Given the description of an element on the screen output the (x, y) to click on. 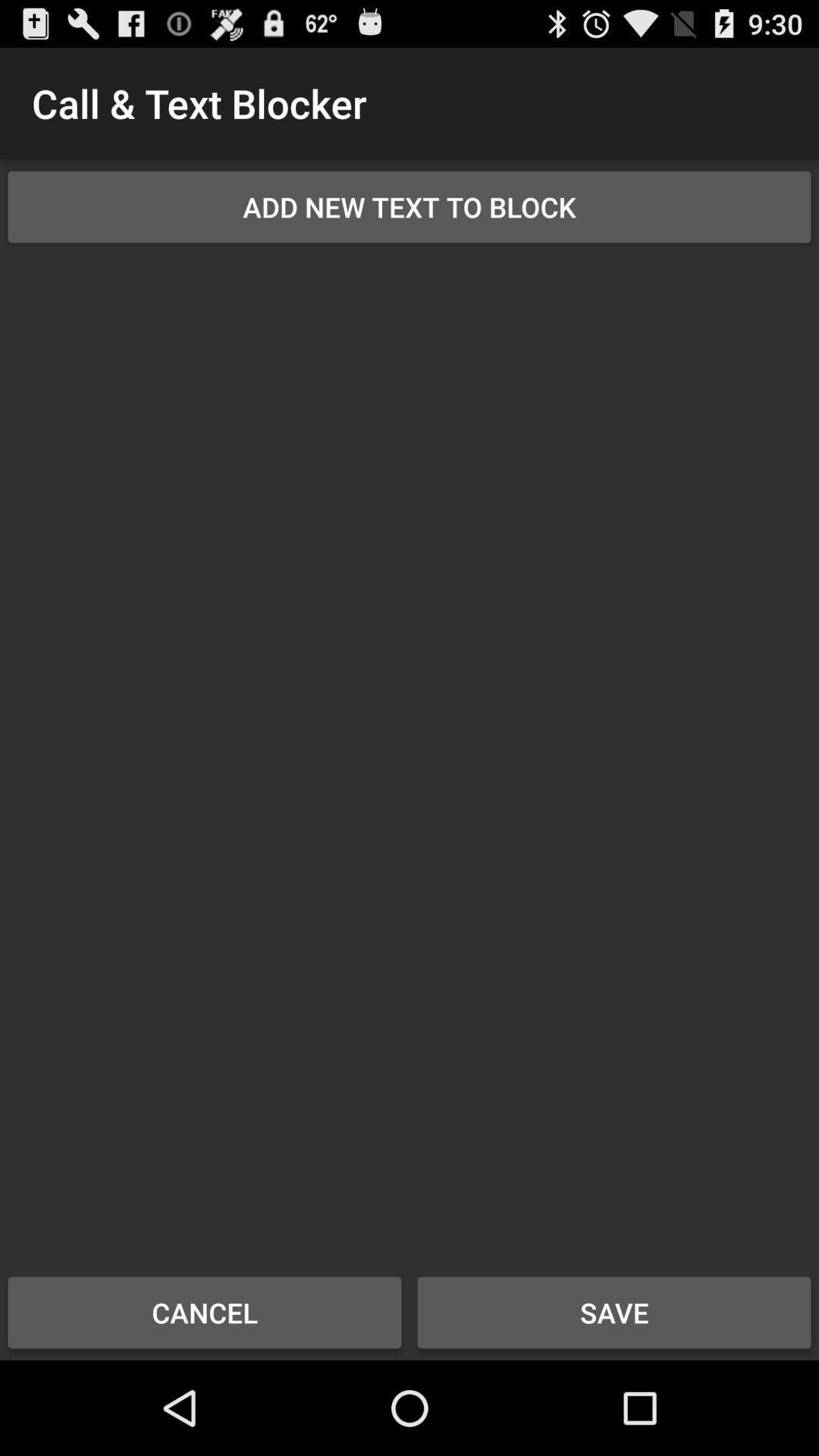
turn on the item at the top (409, 206)
